Given the description of an element on the screen output the (x, y) to click on. 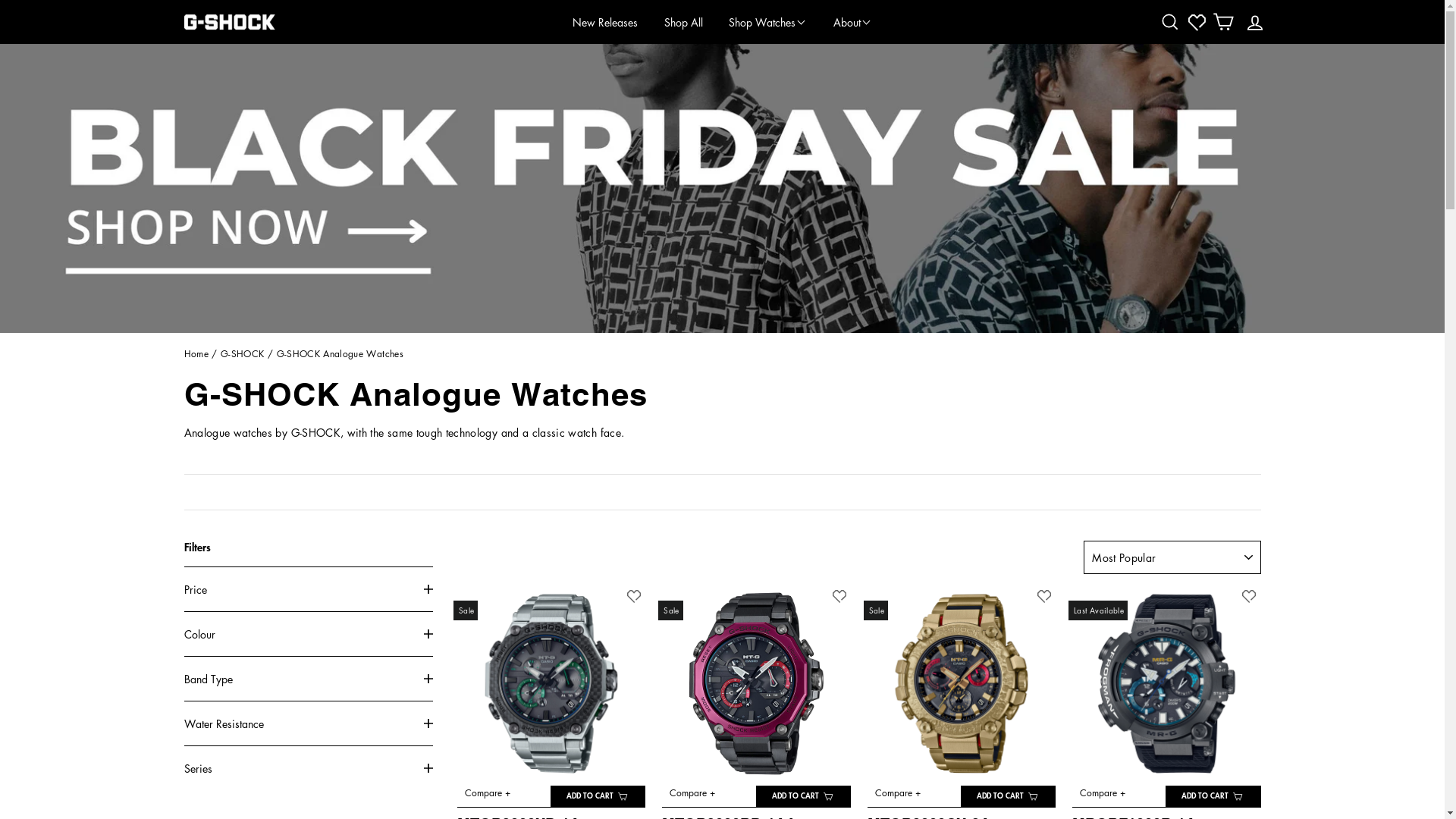
Series Element type: text (308, 767)
MRGBF1000R-1A Element type: hover (1166, 683)
New Releases Element type: text (605, 21)
Login/Sign Up Element type: text (1254, 21)
MTGB2000XD-1A Element type: hover (551, 683)
Last Available Element type: text (1166, 683)
ADD TO CART Element type: text (597, 795)
Sale Element type: text (961, 683)
Water Resistance Element type: text (308, 723)
Search Element type: text (1169, 21)
Shop All Element type: text (683, 21)
ADD TO CART Element type: text (1212, 795)
Cart Element type: text (1222, 21)
ADD TO CART Element type: text (1007, 795)
About Element type: text (852, 21)
MTGB2000BD-1A4 Element type: hover (756, 683)
Sale Element type: text (756, 683)
Sale Element type: text (551, 683)
Home Element type: text (195, 353)
Price Element type: text (308, 589)
G-SHOCK Element type: text (241, 353)
MTGB3000CX-9A Element type: hover (961, 683)
ADD TO CART Element type: text (803, 795)
Shop Watches Element type: text (767, 21)
Colour Element type: text (308, 633)
Band Type Element type: text (308, 678)
